Given the description of an element on the screen output the (x, y) to click on. 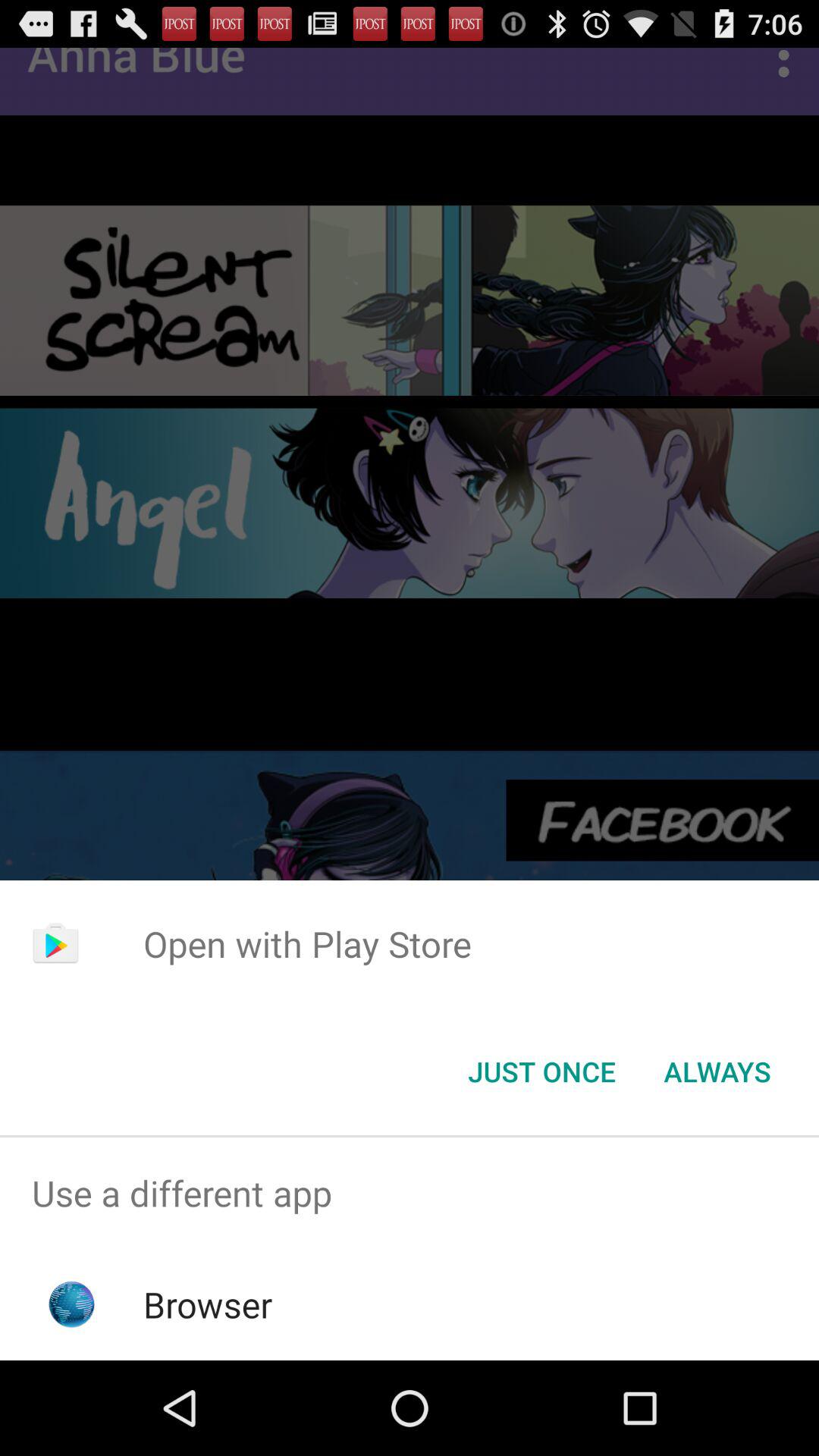
launch item next to just once (717, 1071)
